Given the description of an element on the screen output the (x, y) to click on. 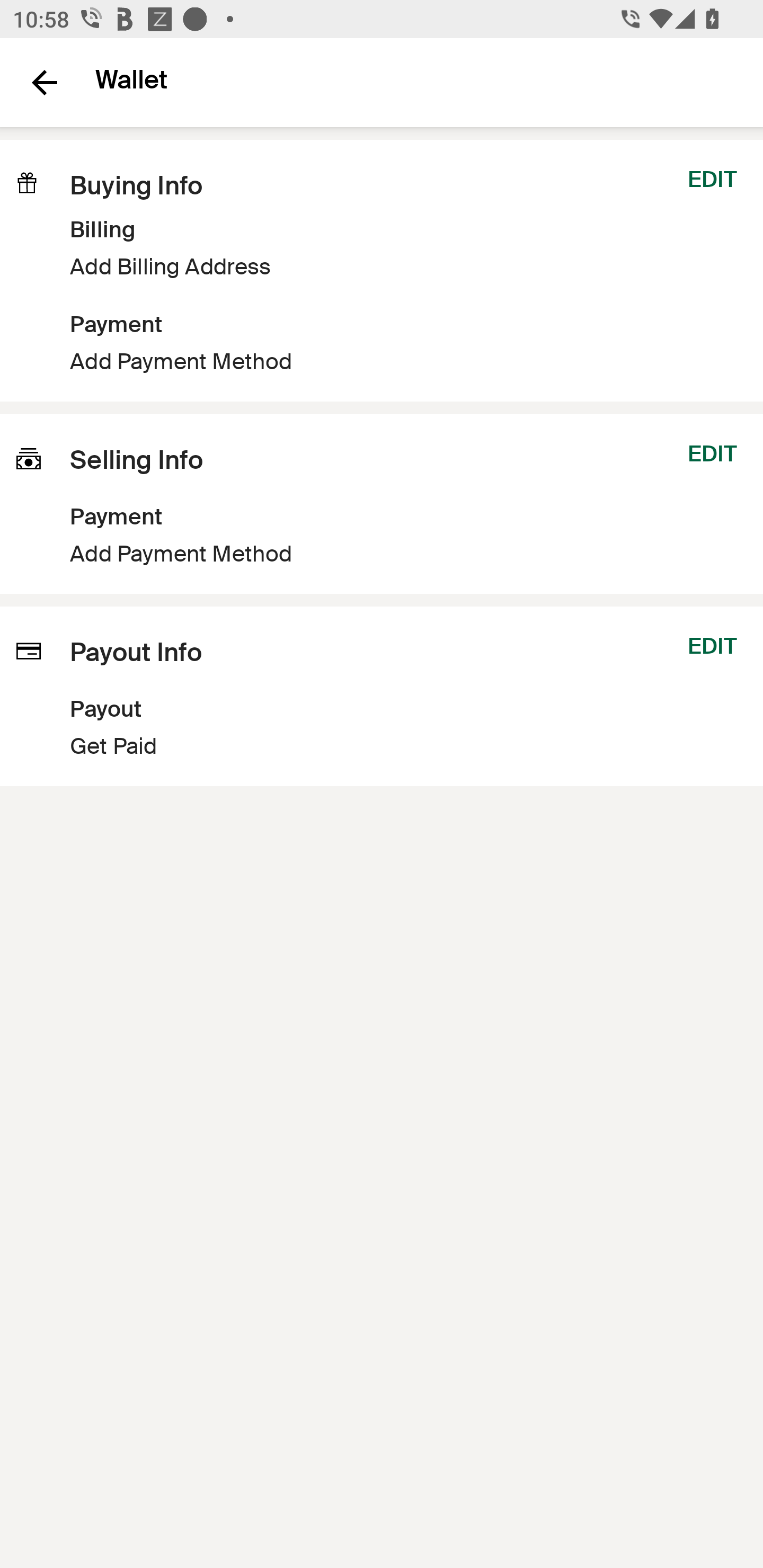
Navigate up (44, 82)
EDIT (712, 179)
EDIT (712, 453)
Selling Info Payment Add Payment Method (159, 503)
EDIT (712, 645)
Payout Info Payout Get Paid (331, 695)
